Given the description of an element on the screen output the (x, y) to click on. 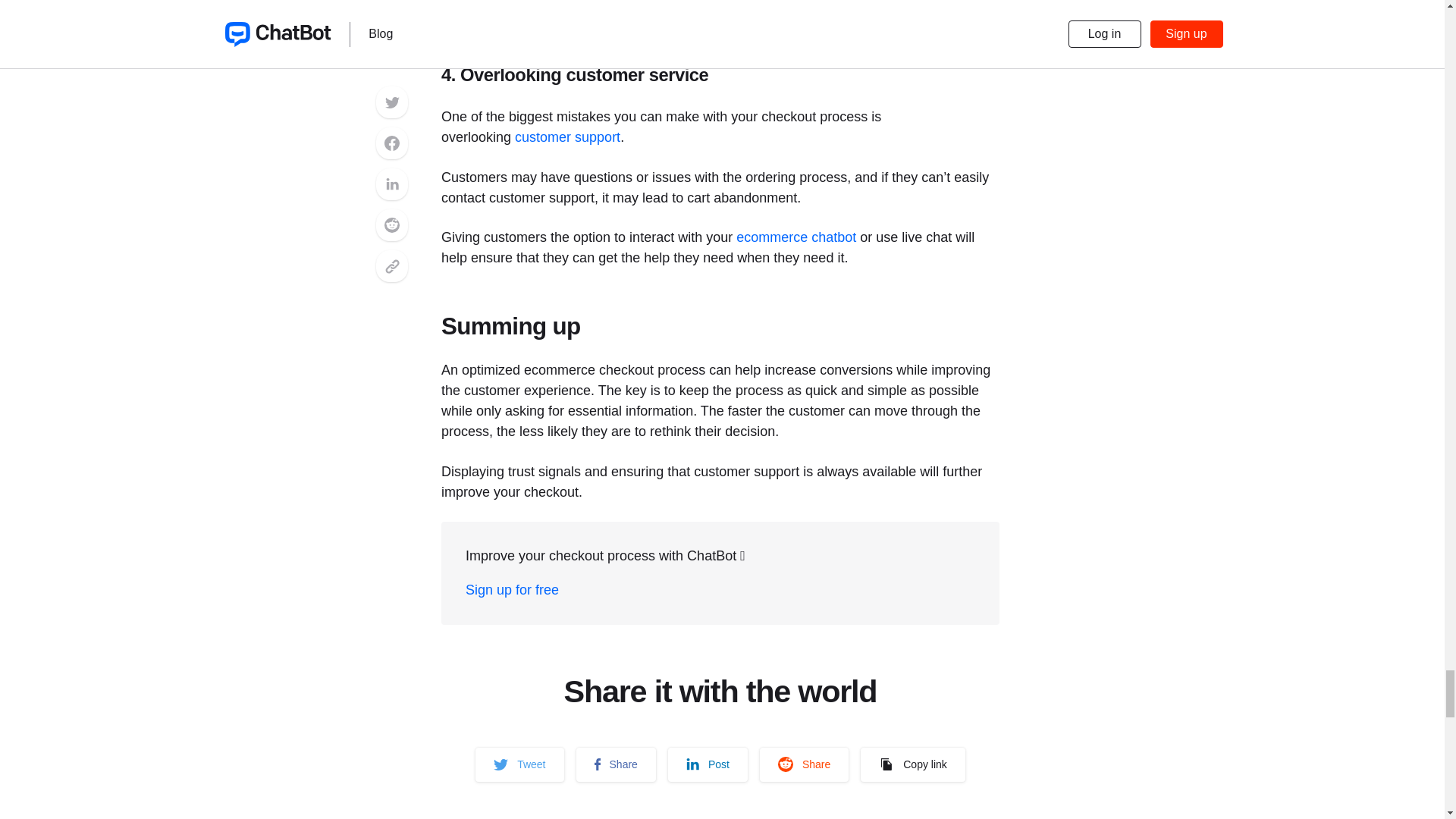
customer support (567, 136)
